Given the description of an element on the screen output the (x, y) to click on. 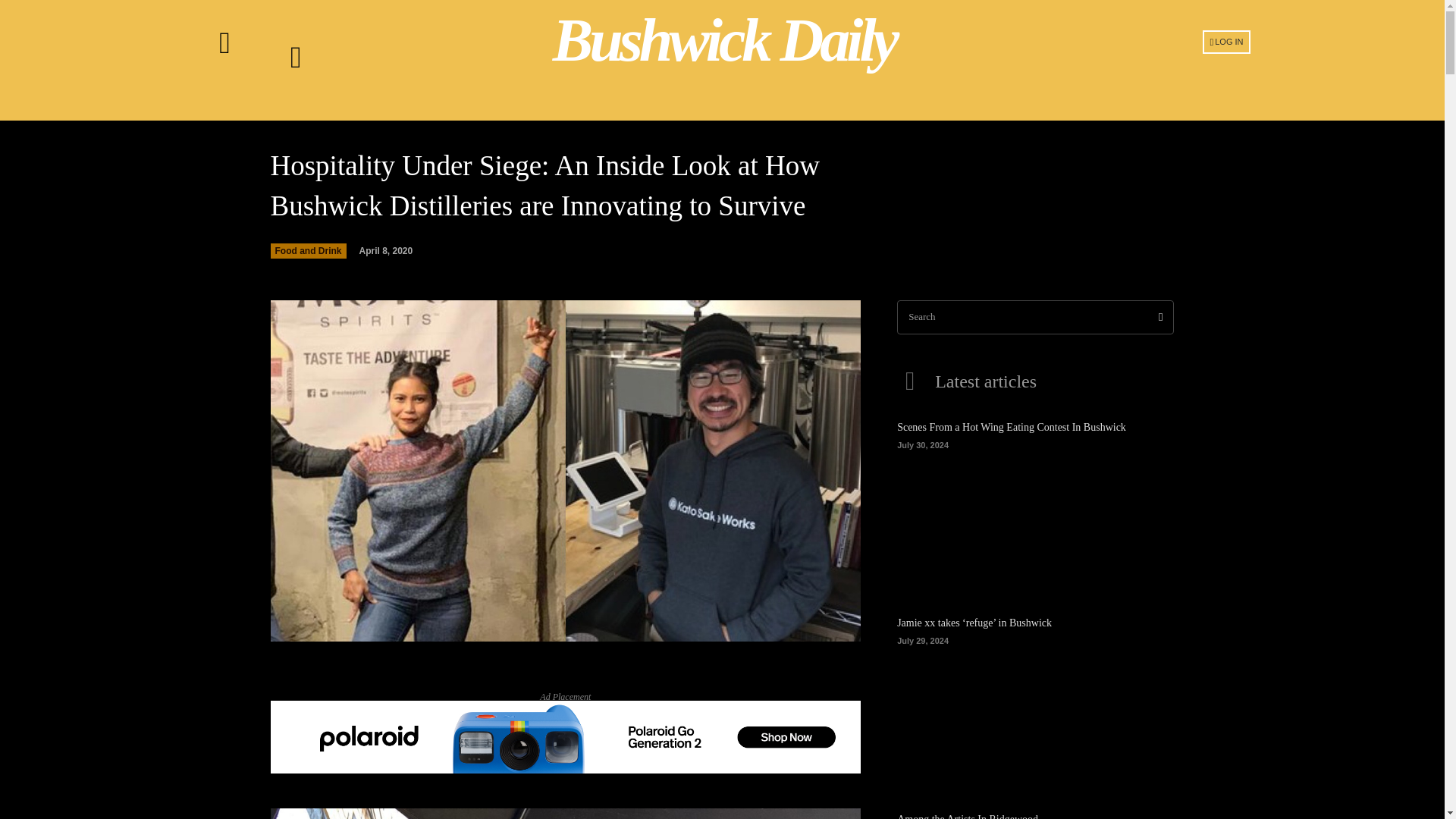
Scenes From a Hot Wing Eating Contest In Bushwick (1010, 427)
Bushwick Daily (724, 40)
LOG IN (1226, 41)
Scenes From a Hot Wing Eating Contest In Bushwick (1034, 517)
Food and Drink (307, 250)
